Given the description of an element on the screen output the (x, y) to click on. 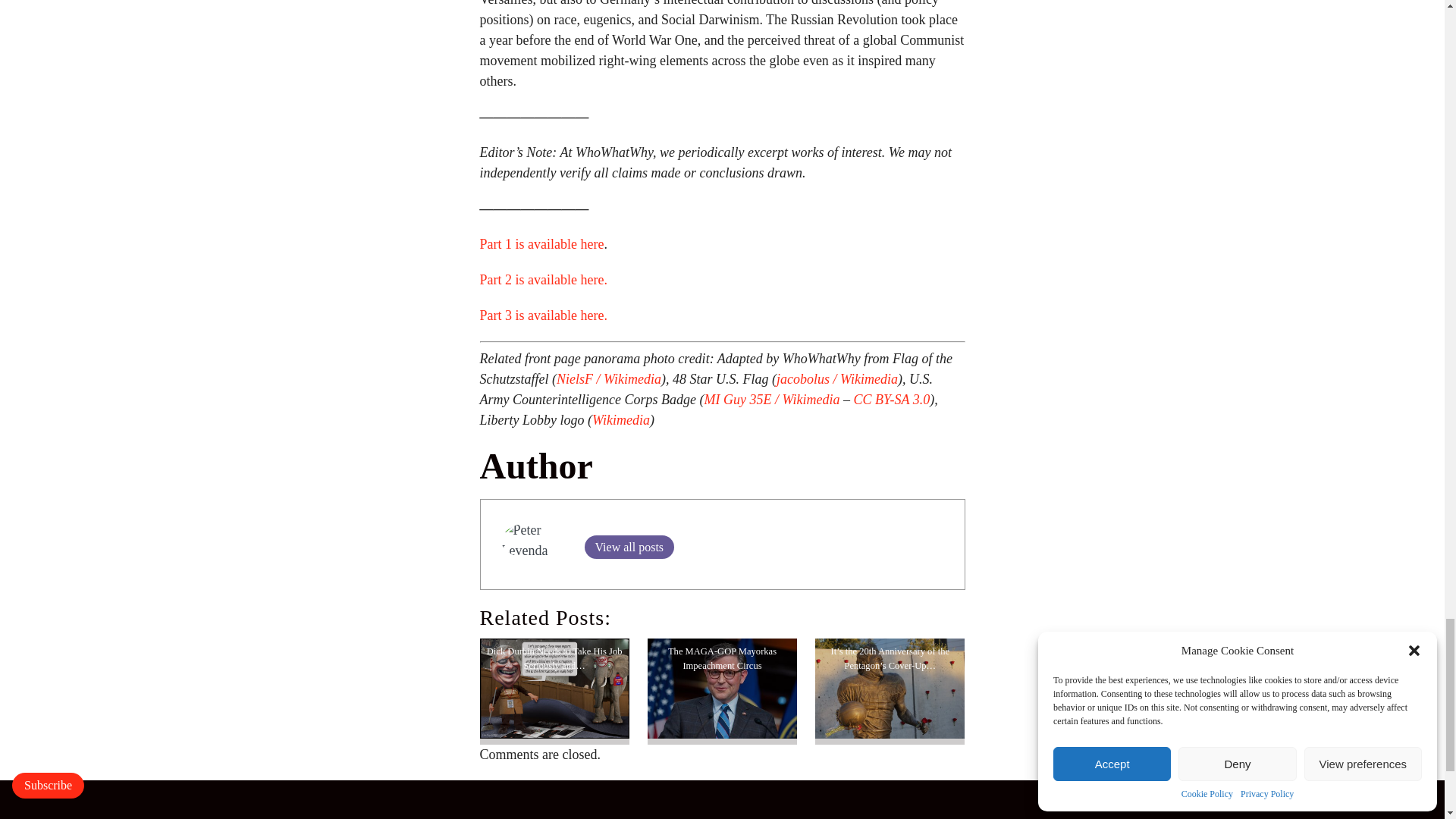
View all posts (628, 546)
The MAGA-GOP Mayorkas Impeachment Circus (721, 688)
